Given the description of an element on the screen output the (x, y) to click on. 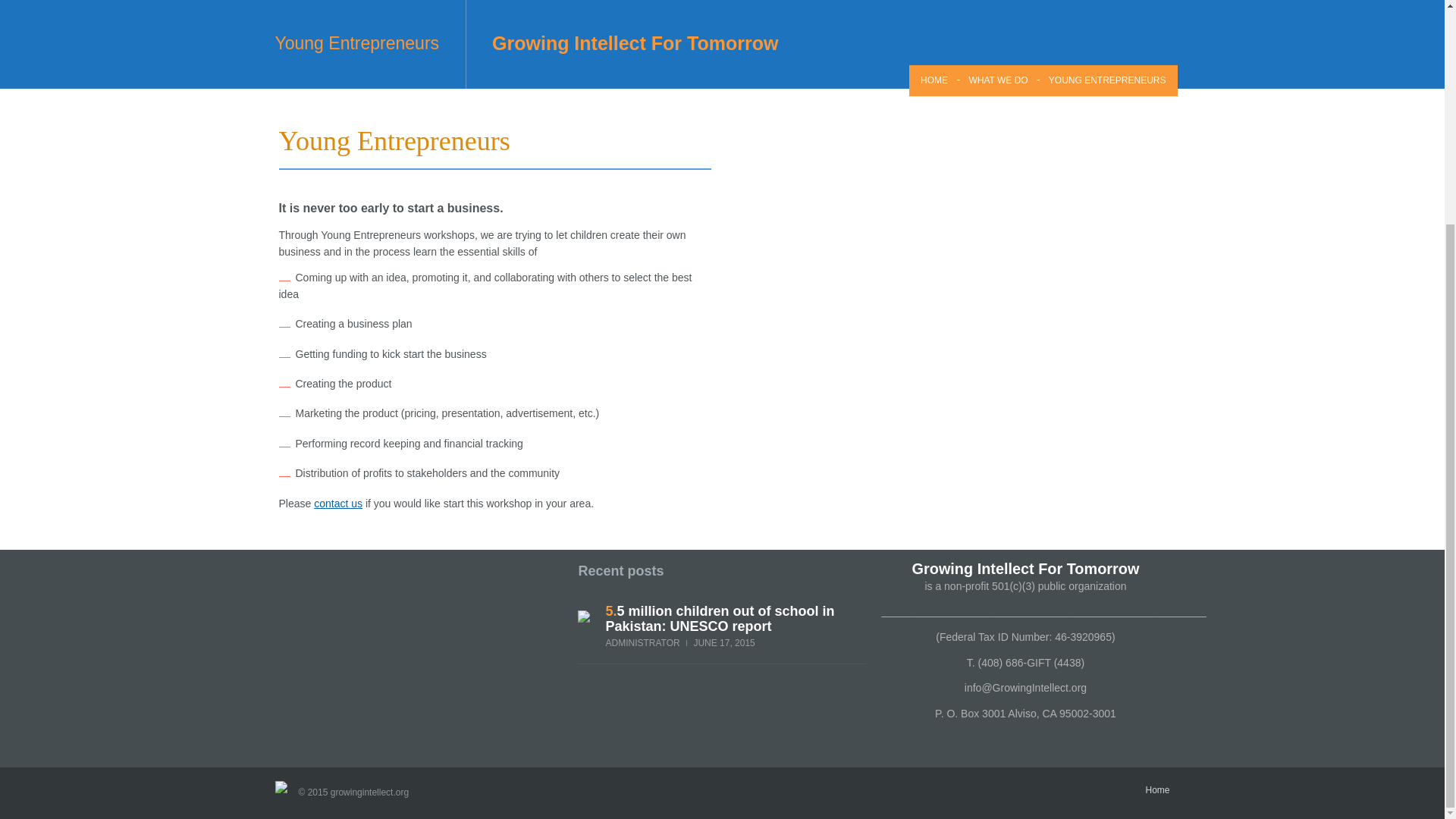
contact us (338, 503)
Home (1156, 789)
HOME (933, 80)
ADMINISTRATOR (642, 643)
WHAT WE DO (997, 80)
